Given the description of an element on the screen output the (x, y) to click on. 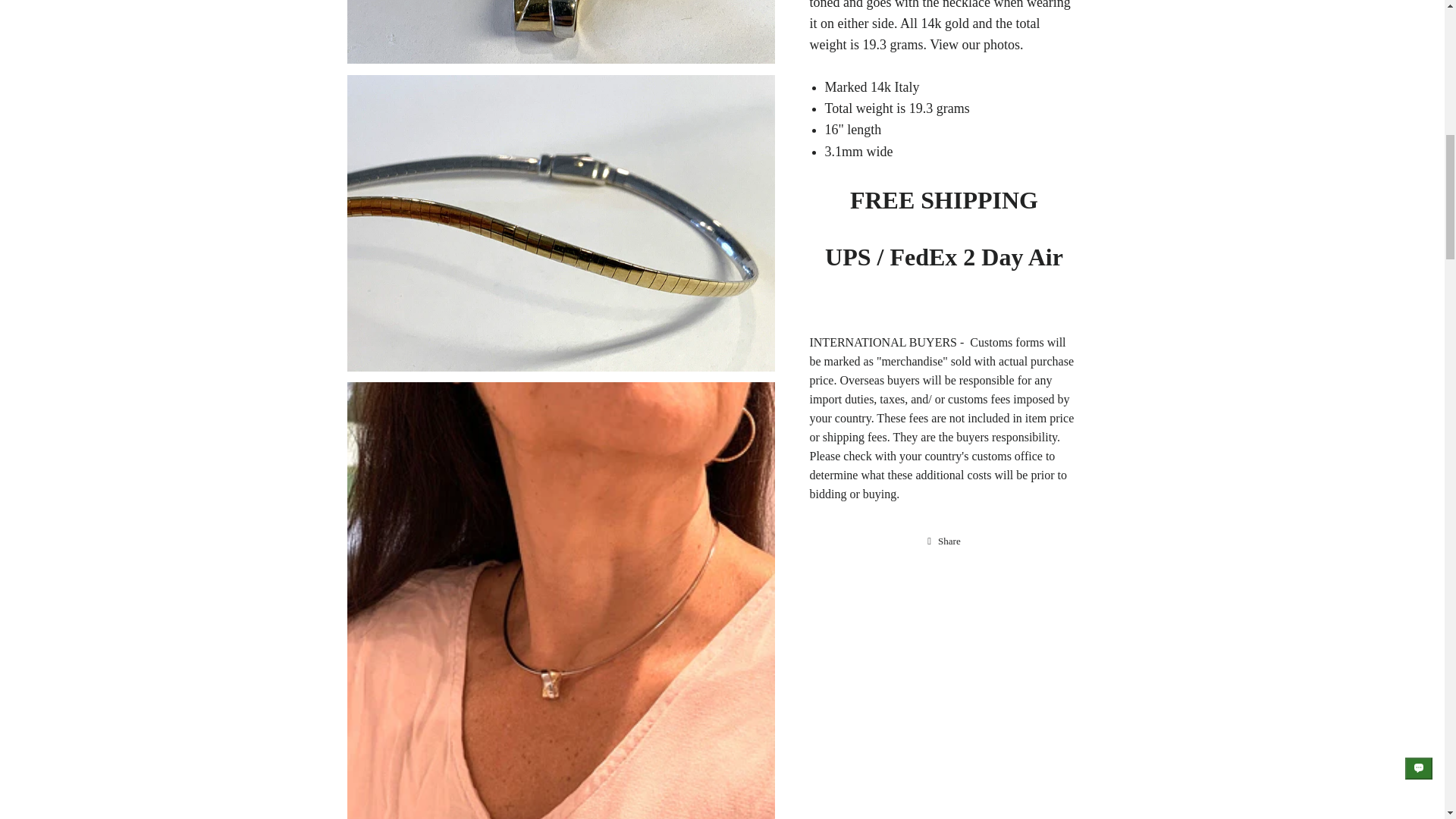
Share on Facebook (944, 540)
